Given the description of an element on the screen output the (x, y) to click on. 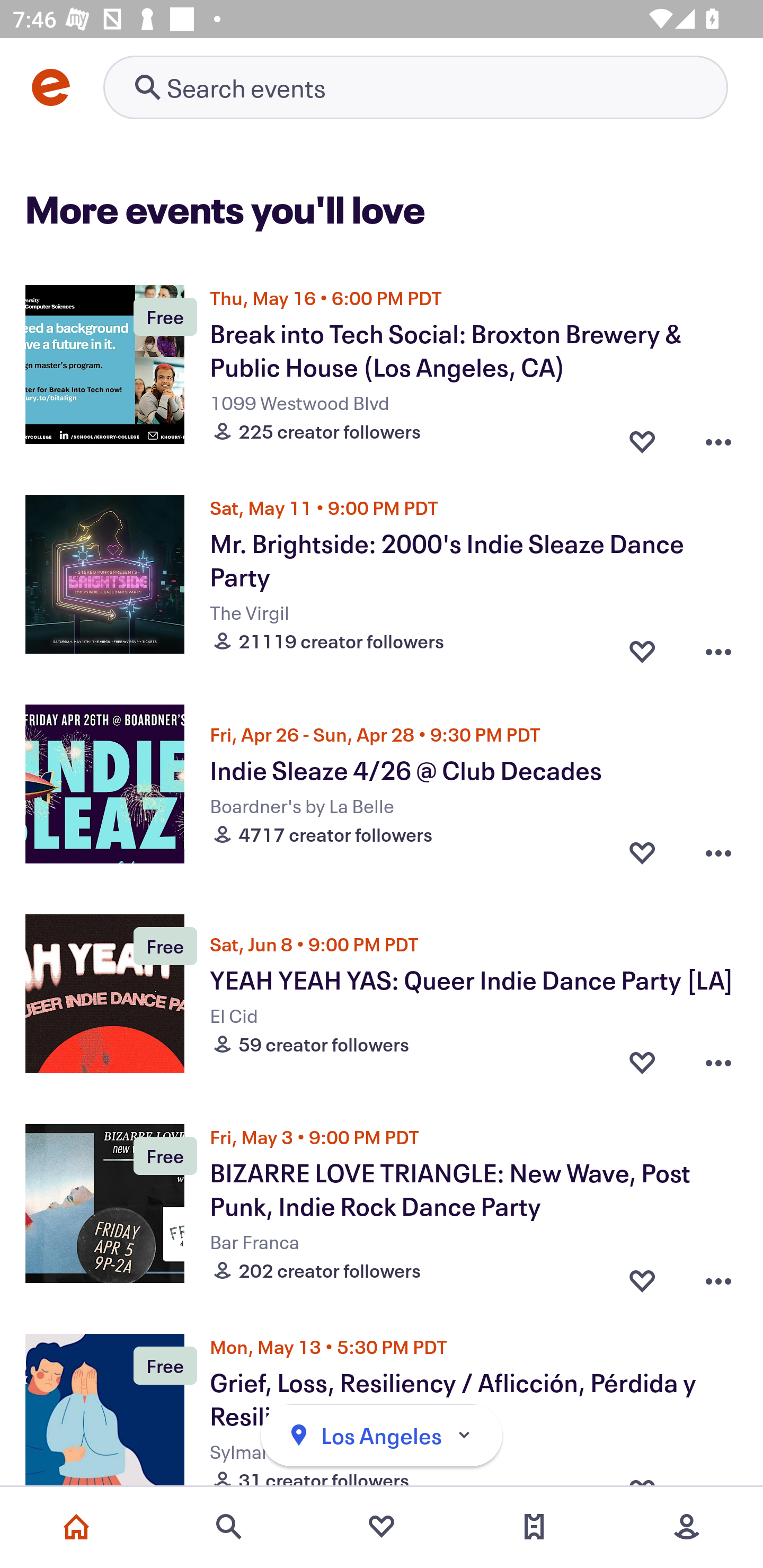
Retry's image Search events (415, 86)
Favorite button (642, 436)
Overflow menu button (718, 436)
Favorite button (642, 646)
Overflow menu button (718, 646)
Favorite button (642, 852)
Overflow menu button (718, 852)
Favorite button (642, 1062)
Overflow menu button (718, 1062)
Favorite button (642, 1275)
Overflow menu button (718, 1275)
Los Angeles (381, 1435)
Home (76, 1526)
Search events (228, 1526)
Favorites (381, 1526)
Tickets (533, 1526)
More (686, 1526)
